Given the description of an element on the screen output the (x, y) to click on. 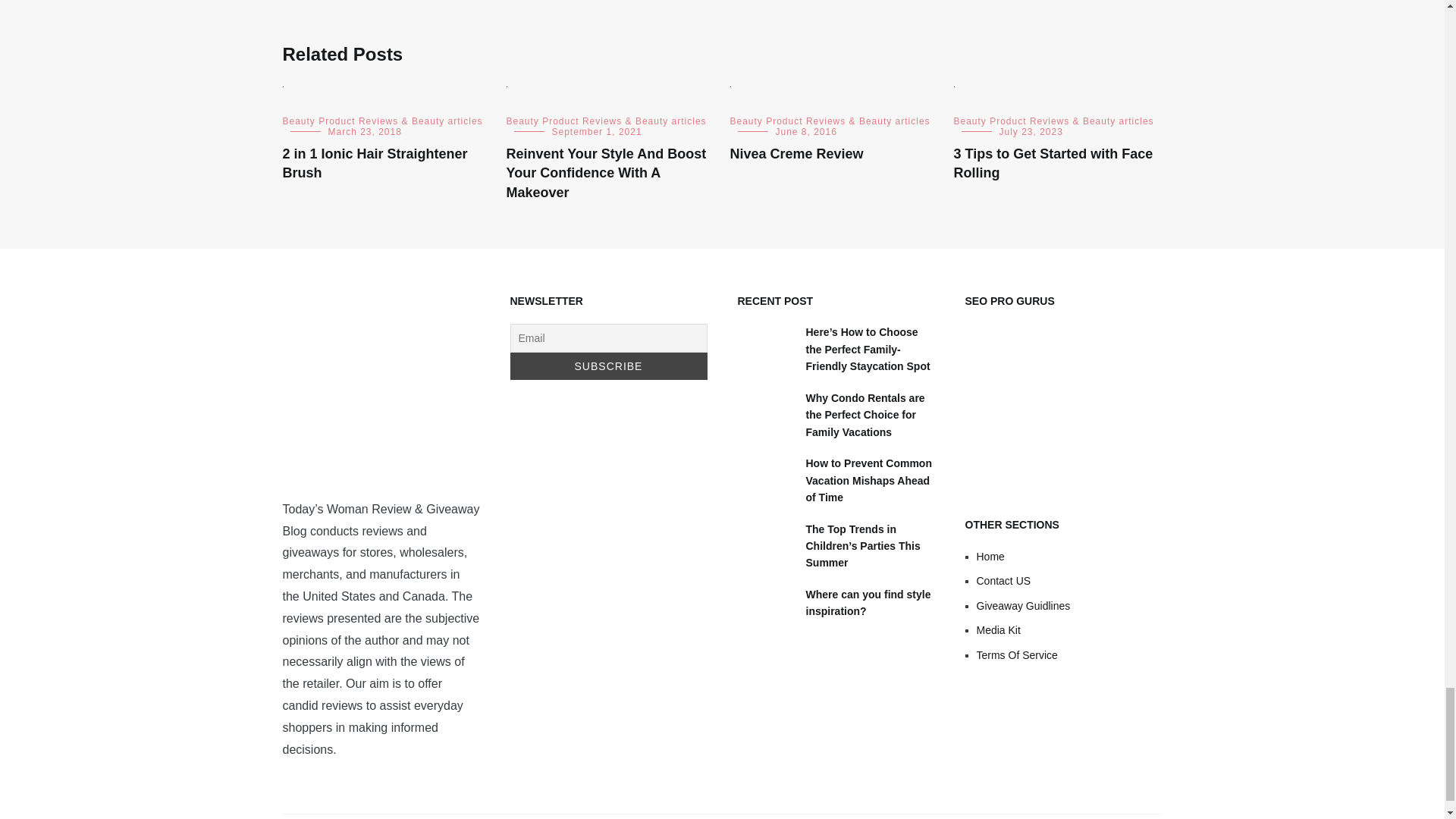
Subscribe (607, 366)
